Given the description of an element on the screen output the (x, y) to click on. 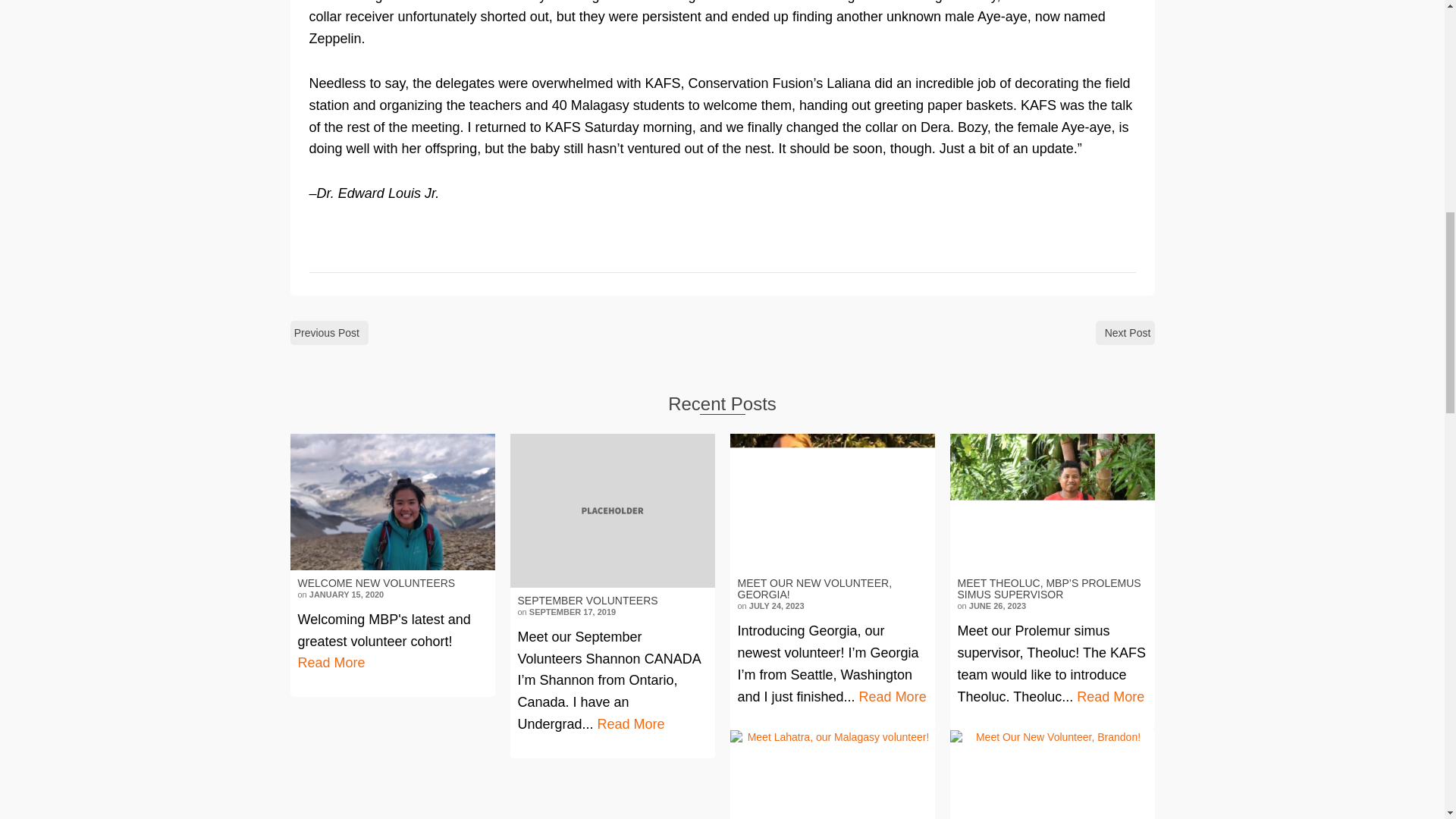
Meet Our New Volunteer, Georgia! (831, 501)
Meet Our New Volunteer, Brandon! (1051, 774)
Meet Lahatra, our Malagasy volunteer! (831, 774)
September Volunteers (611, 511)
Welcome New Volunteers (392, 501)
